Given the description of an element on the screen output the (x, y) to click on. 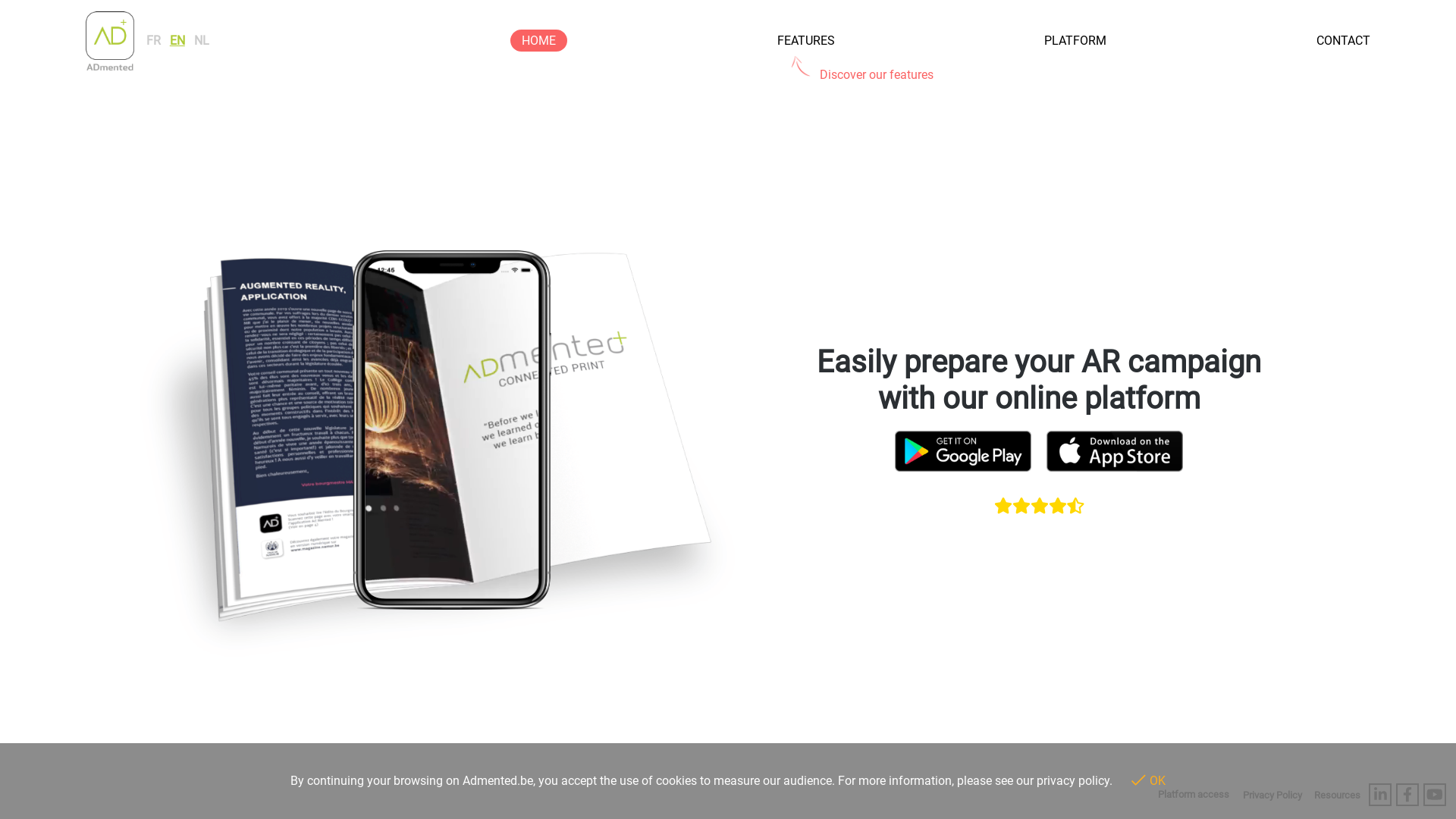
HOME Element type: text (538, 40)
PLATFORM Element type: text (1075, 40)
Resources Element type: text (1337, 794)
NL Element type: text (201, 40)
CONTACT Element type: text (1343, 40)
FR Element type: text (153, 40)
Privacy Policy Element type: text (1272, 794)
Platform access Element type: text (1193, 794)
FEATURES Element type: text (805, 40)
EN Element type: text (177, 40)
